Given the description of an element on the screen output the (x, y) to click on. 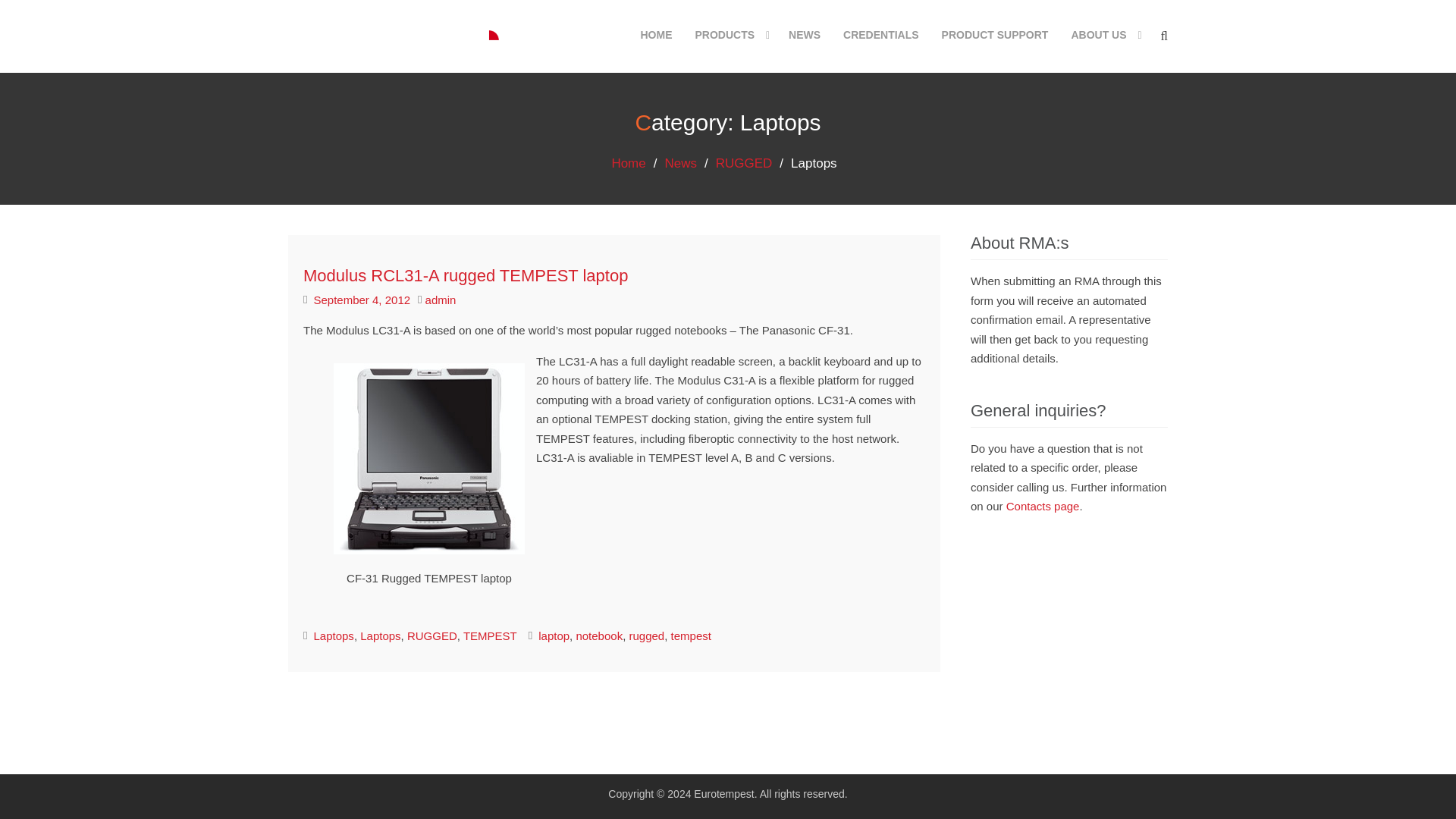
CF-31 Rugged TEMPEST laptop (428, 458)
PRODUCT SUPPORT (994, 35)
PRODUCTS (729, 35)
ABOUT US (1103, 35)
HOME (655, 35)
CREDENTIALS (880, 35)
NEWS (804, 35)
